Given the description of an element on the screen output the (x, y) to click on. 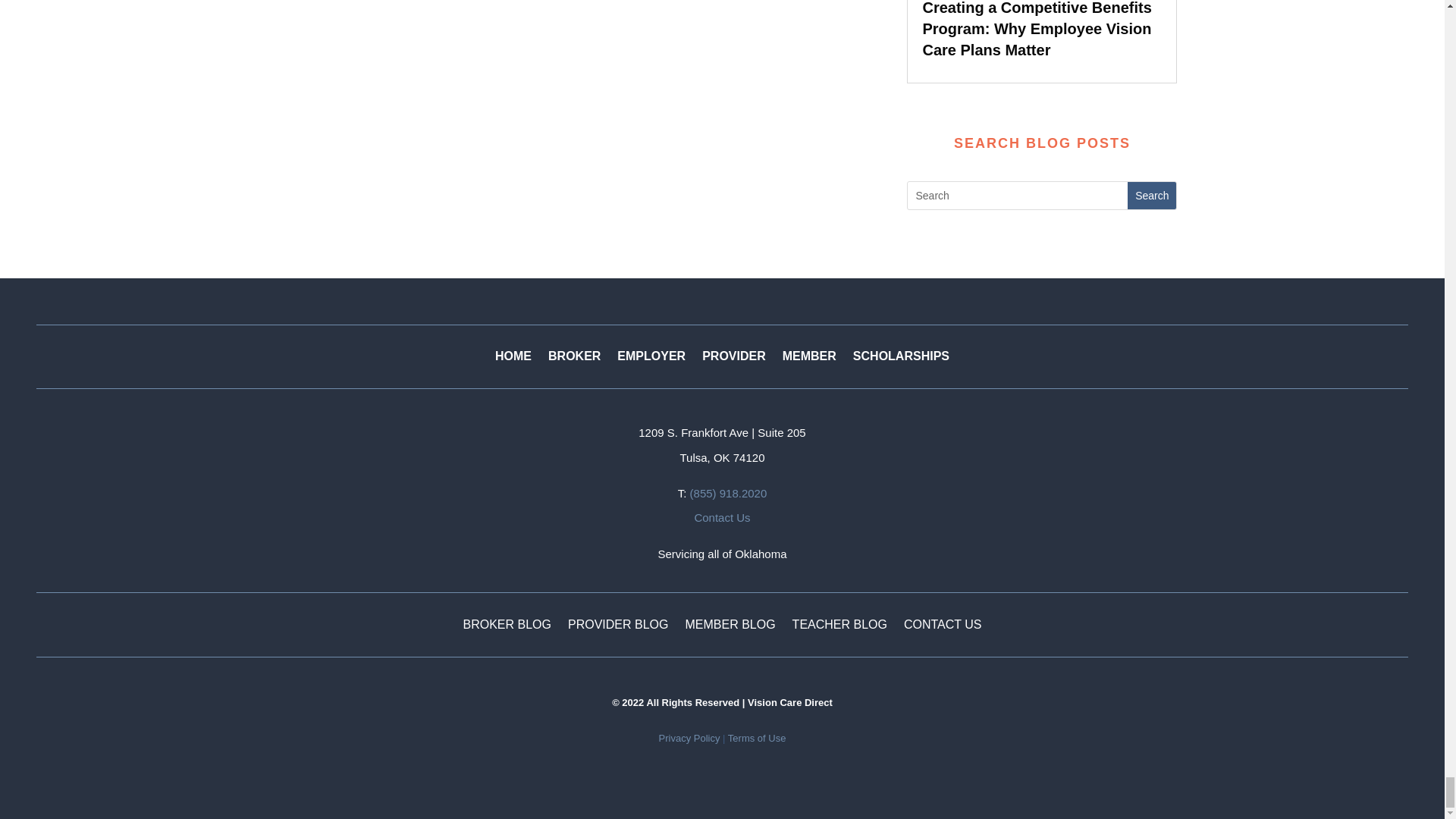
Search (1151, 195)
Search (1151, 195)
